Given the description of an element on the screen output the (x, y) to click on. 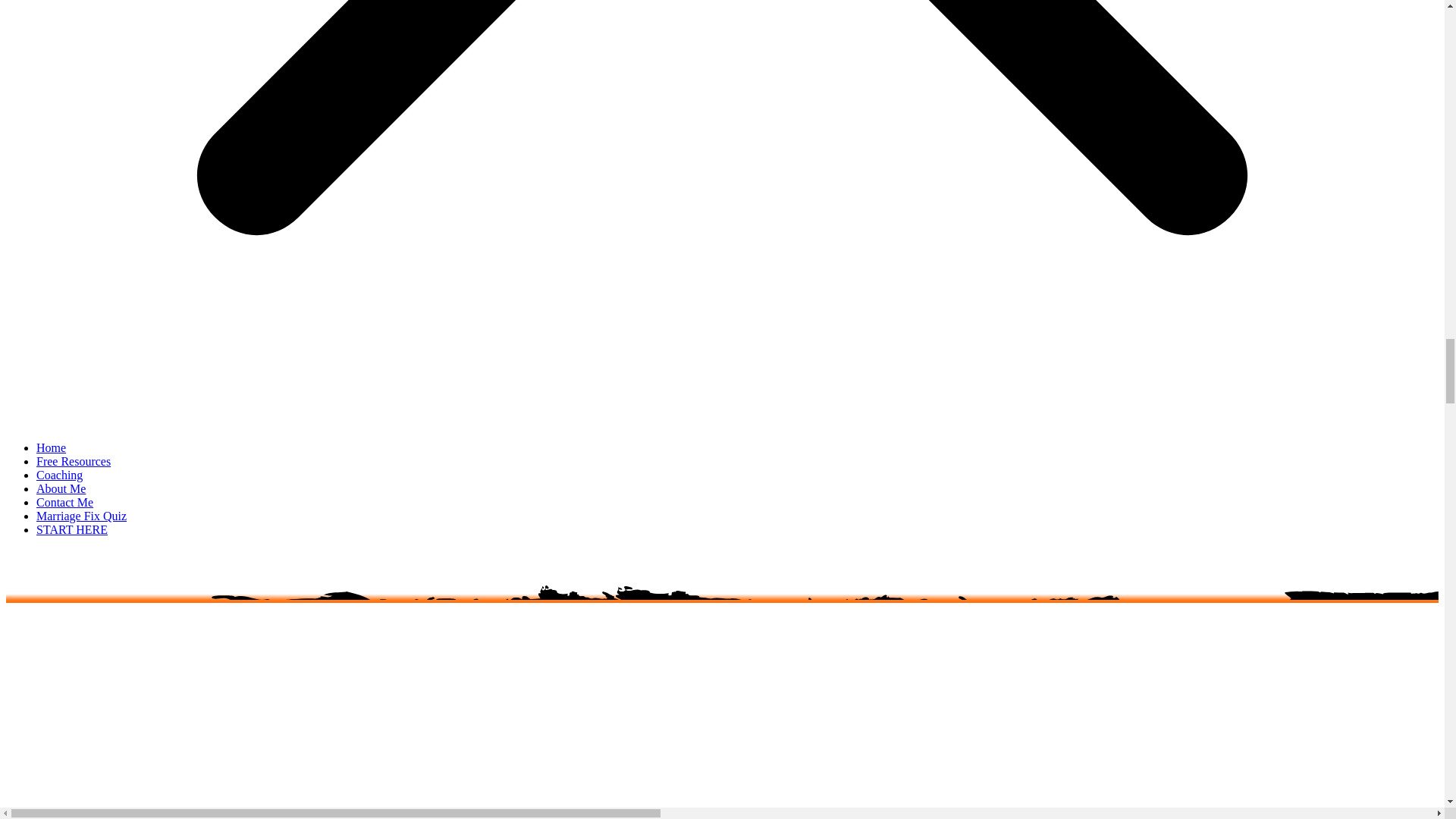
Contact Me (64, 502)
Coaching (59, 474)
Free Resources (73, 461)
Home (50, 447)
About Me (60, 488)
Marriage Fix Quiz (81, 515)
START HERE (71, 529)
